Given the description of an element on the screen output the (x, y) to click on. 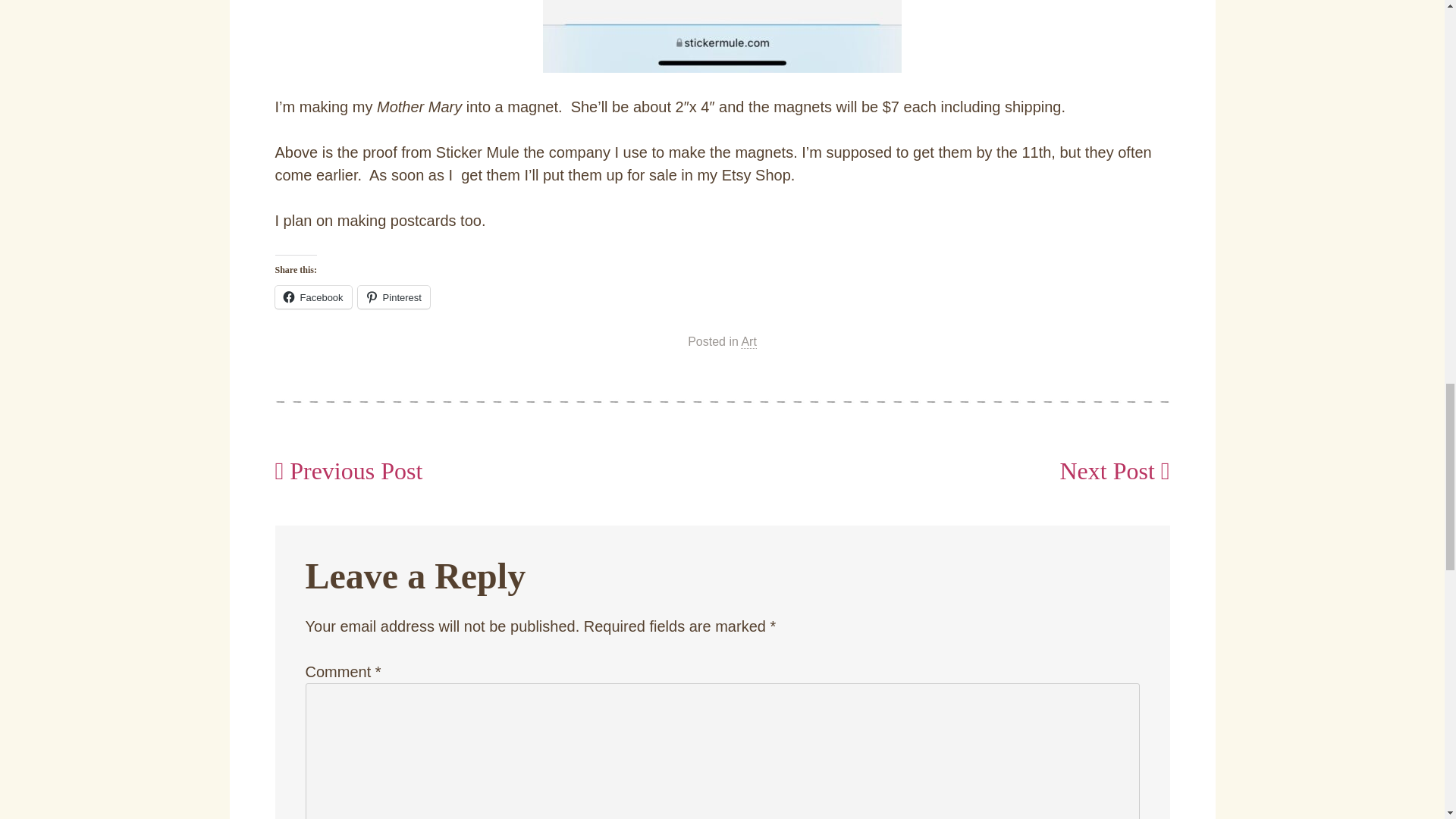
Click to share on Pinterest (393, 296)
Previous Post (348, 470)
Next Post (1114, 470)
Click to share on Facebook (312, 296)
Facebook (312, 296)
Art (748, 341)
Pinterest (393, 296)
